Given the description of an element on the screen output the (x, y) to click on. 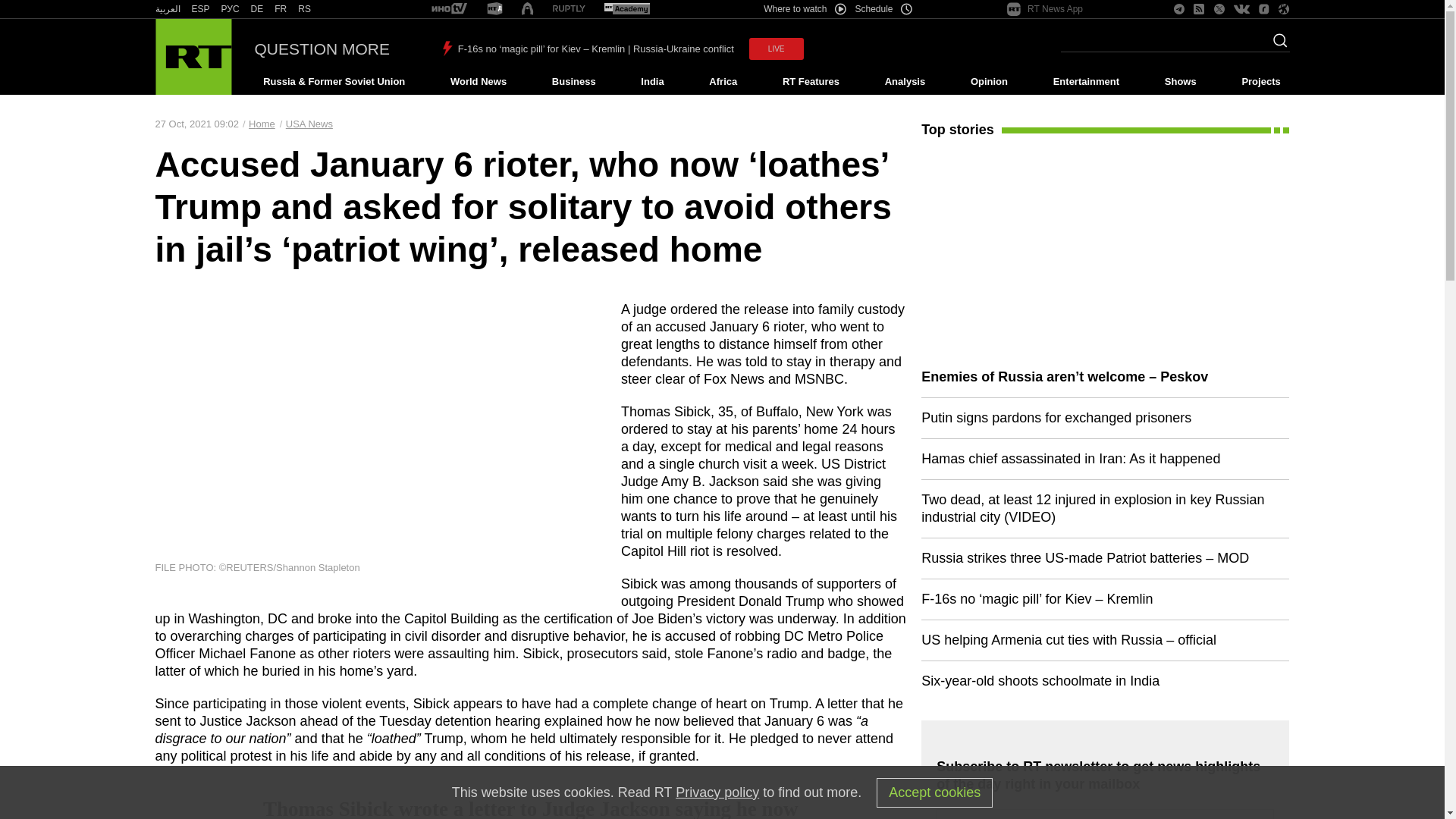
DE (256, 9)
Africa (722, 81)
Projects (1261, 81)
RT Features (810, 81)
ESP (199, 9)
Search (1276, 44)
Schedule (884, 9)
RT  (166, 9)
Where to watch (803, 9)
RT  (626, 9)
Entertainment (1085, 81)
RT  (256, 9)
RT  (230, 9)
RT  (199, 9)
RT  (280, 9)
